Given the description of an element on the screen output the (x, y) to click on. 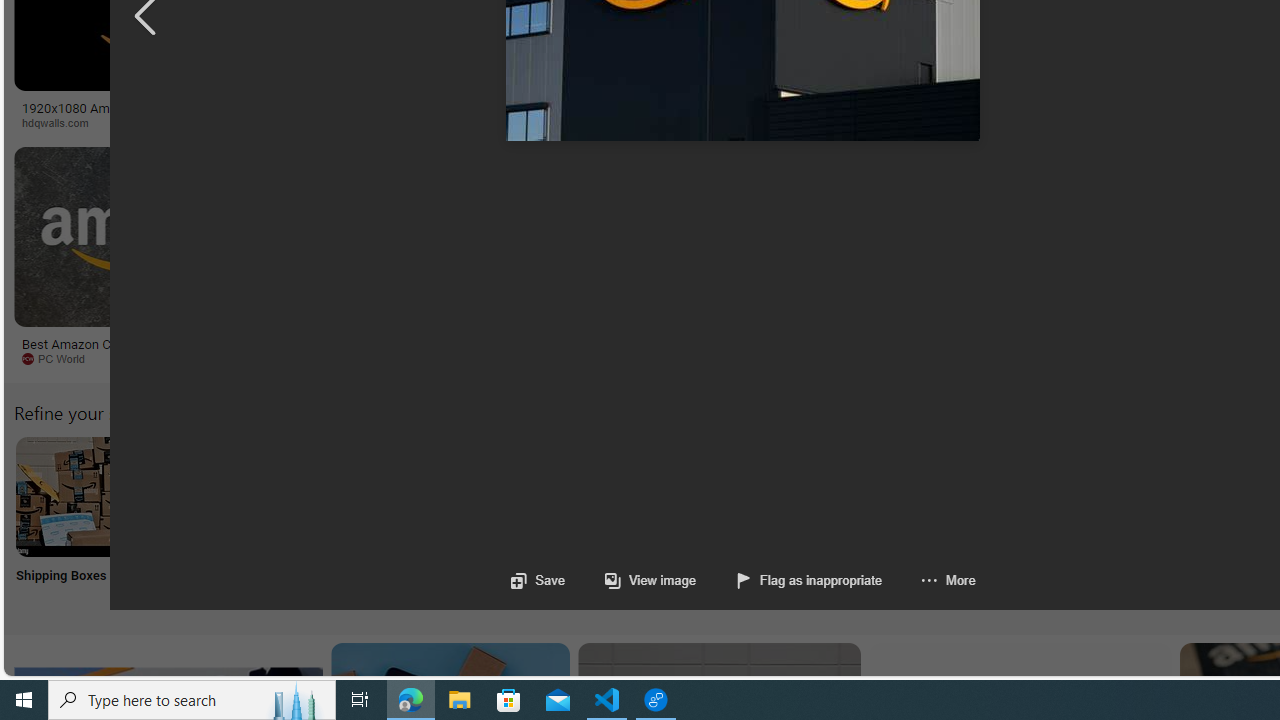
Amazon Online Store Online Store (1131, 521)
Amazon Online Store (1131, 496)
Log into My Account (472, 521)
